Given the description of an element on the screen output the (x, y) to click on. 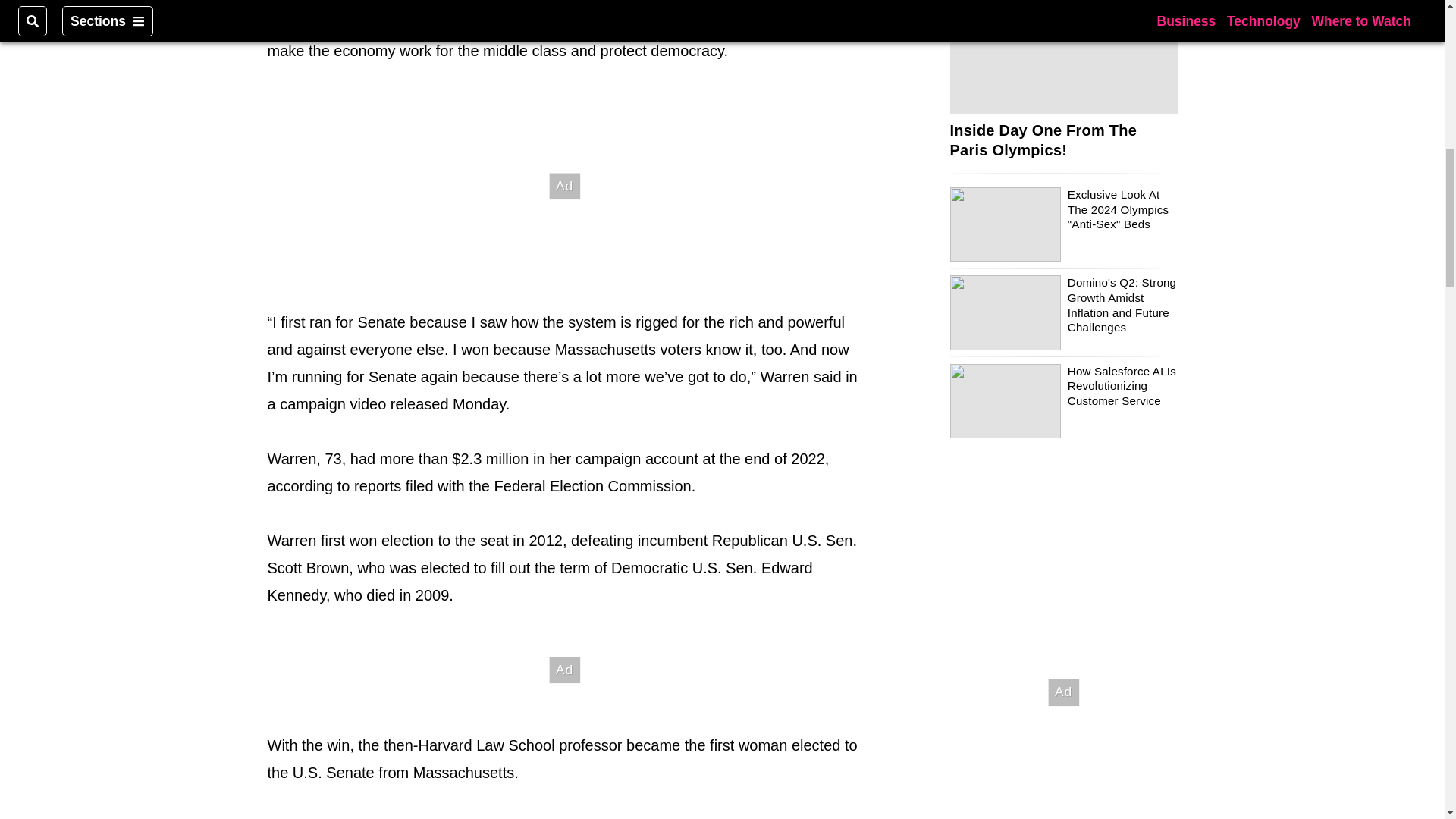
a failed 2020 presidential contender, (560, 16)
